Given the description of an element on the screen output the (x, y) to click on. 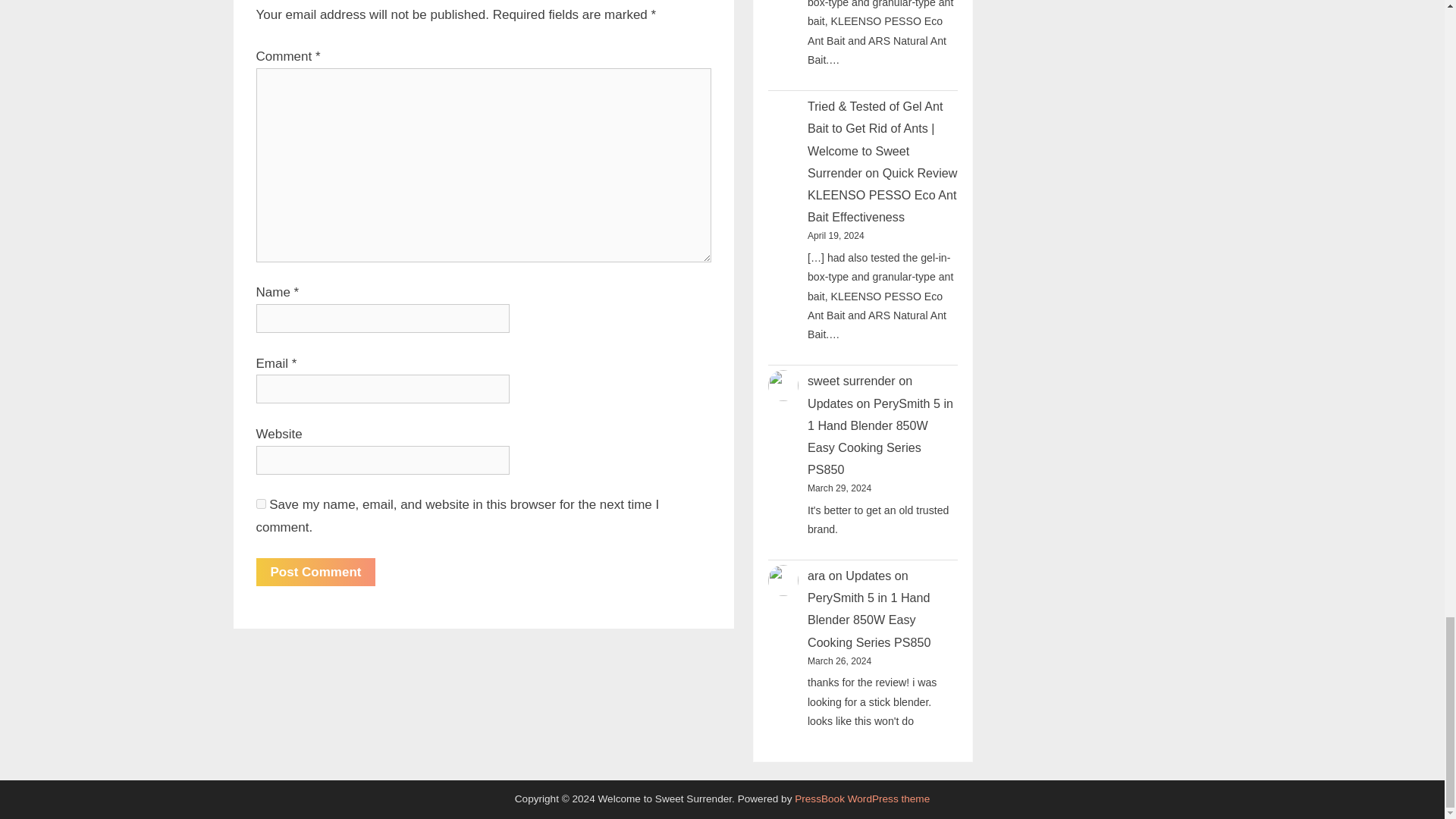
Post Comment (315, 571)
yes (261, 503)
Post Comment (315, 571)
